Given the description of an element on the screen output the (x, y) to click on. 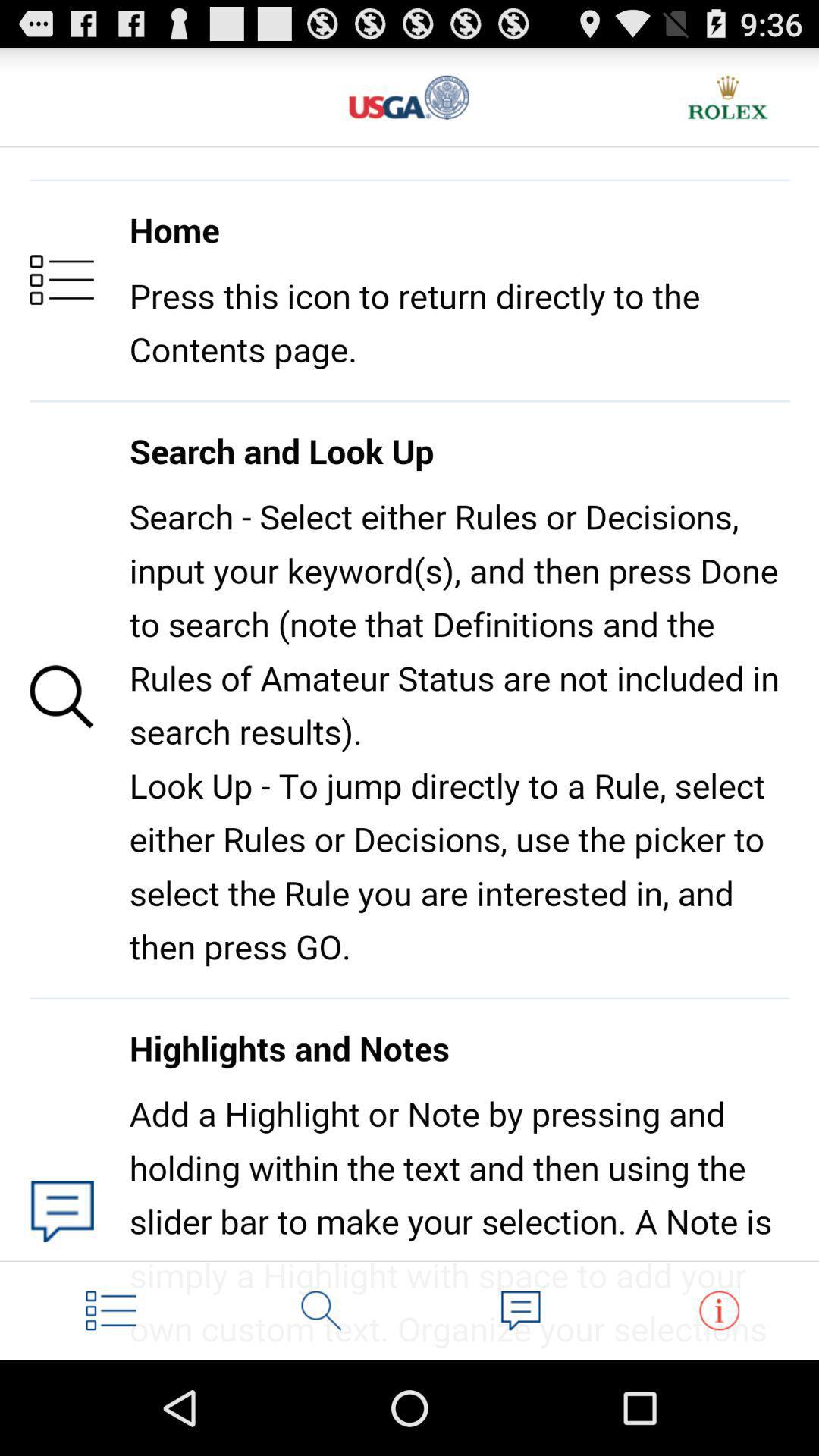
open advertisement (728, 97)
